Given the description of an element on the screen output the (x, y) to click on. 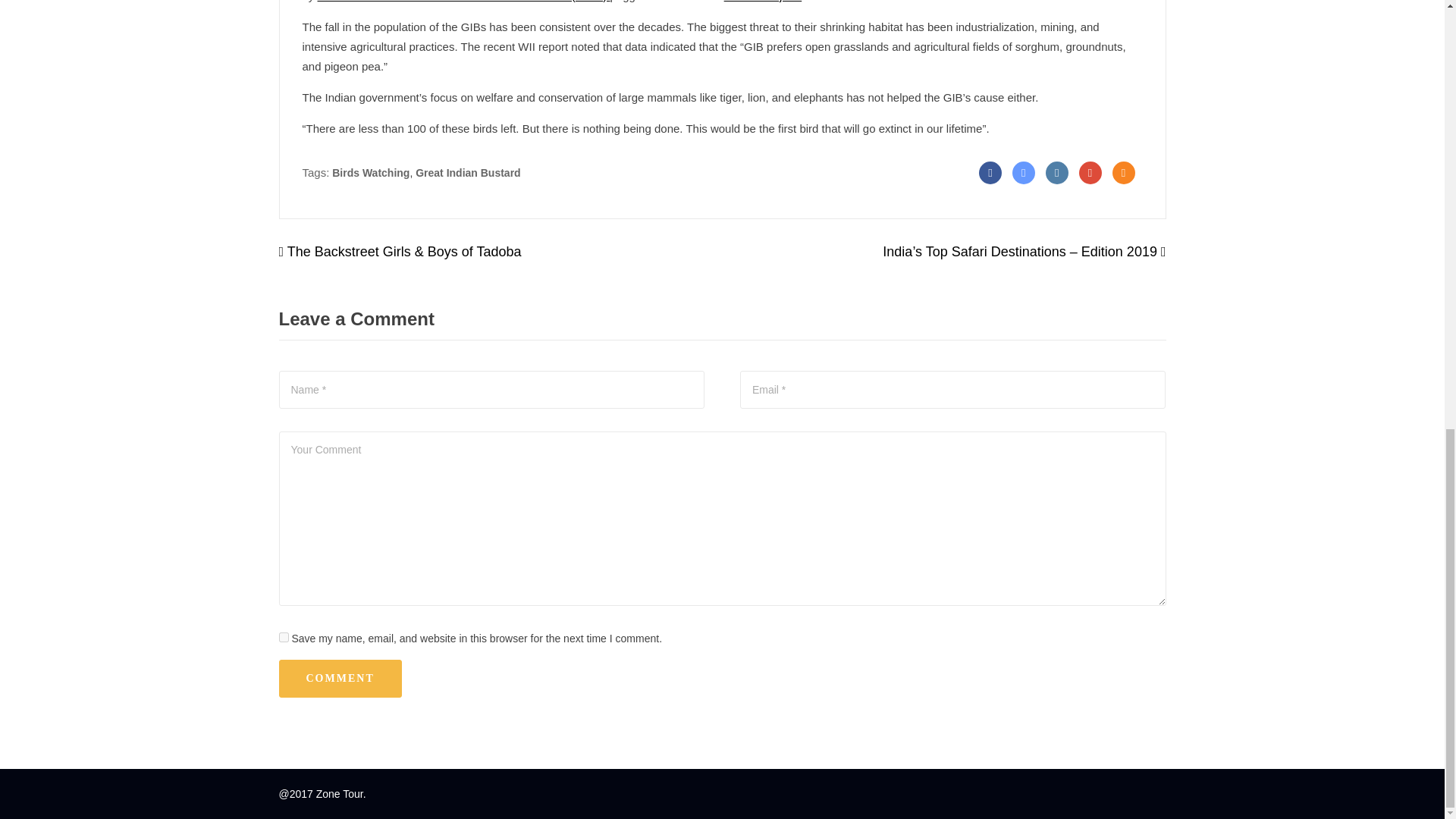
yes (283, 637)
COMMENT (340, 679)
